Given the description of an element on the screen output the (x, y) to click on. 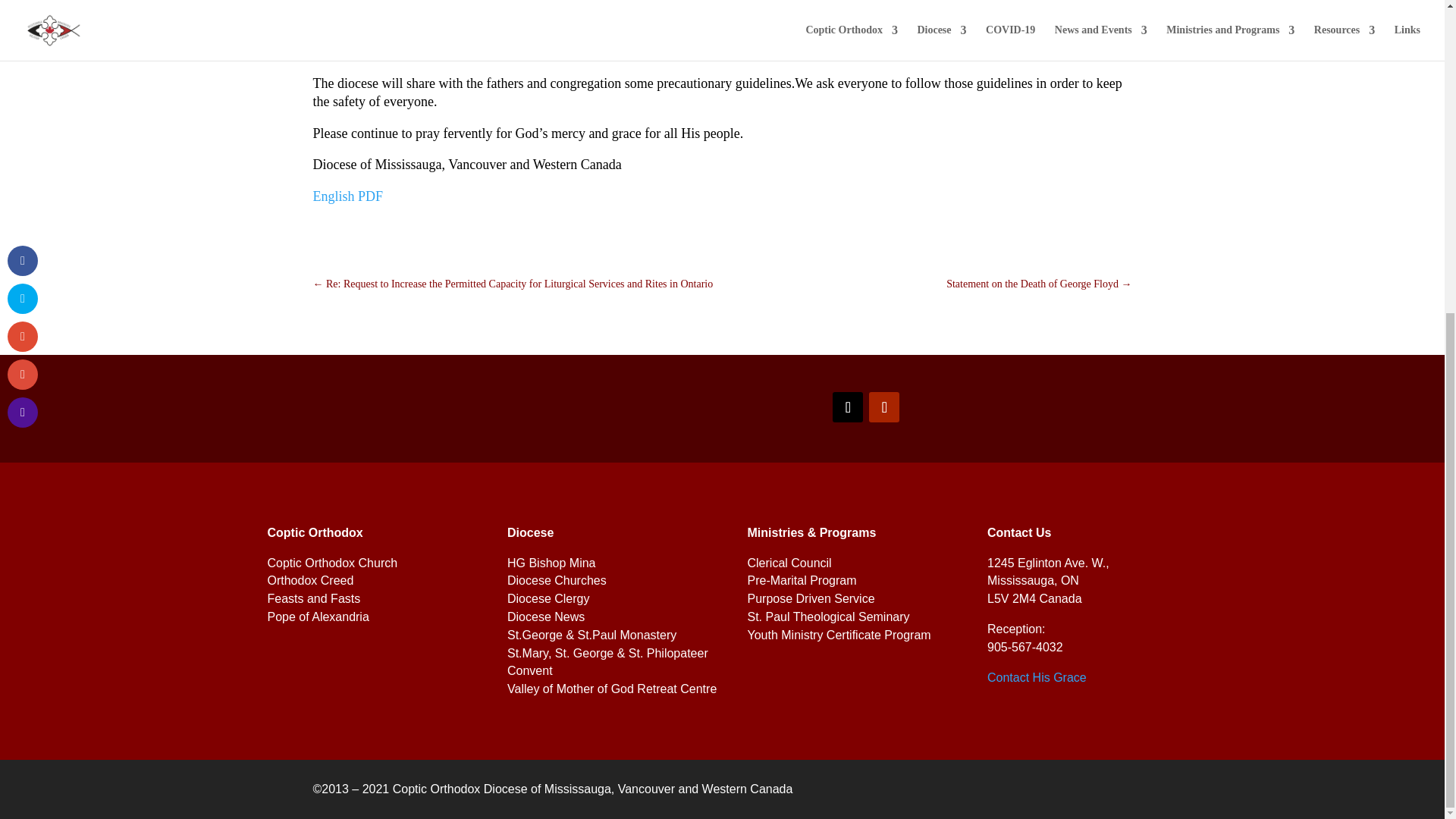
Follow on Youtube (884, 407)
Follow on X (847, 407)
English PDF (347, 196)
